Given the description of an element on the screen output the (x, y) to click on. 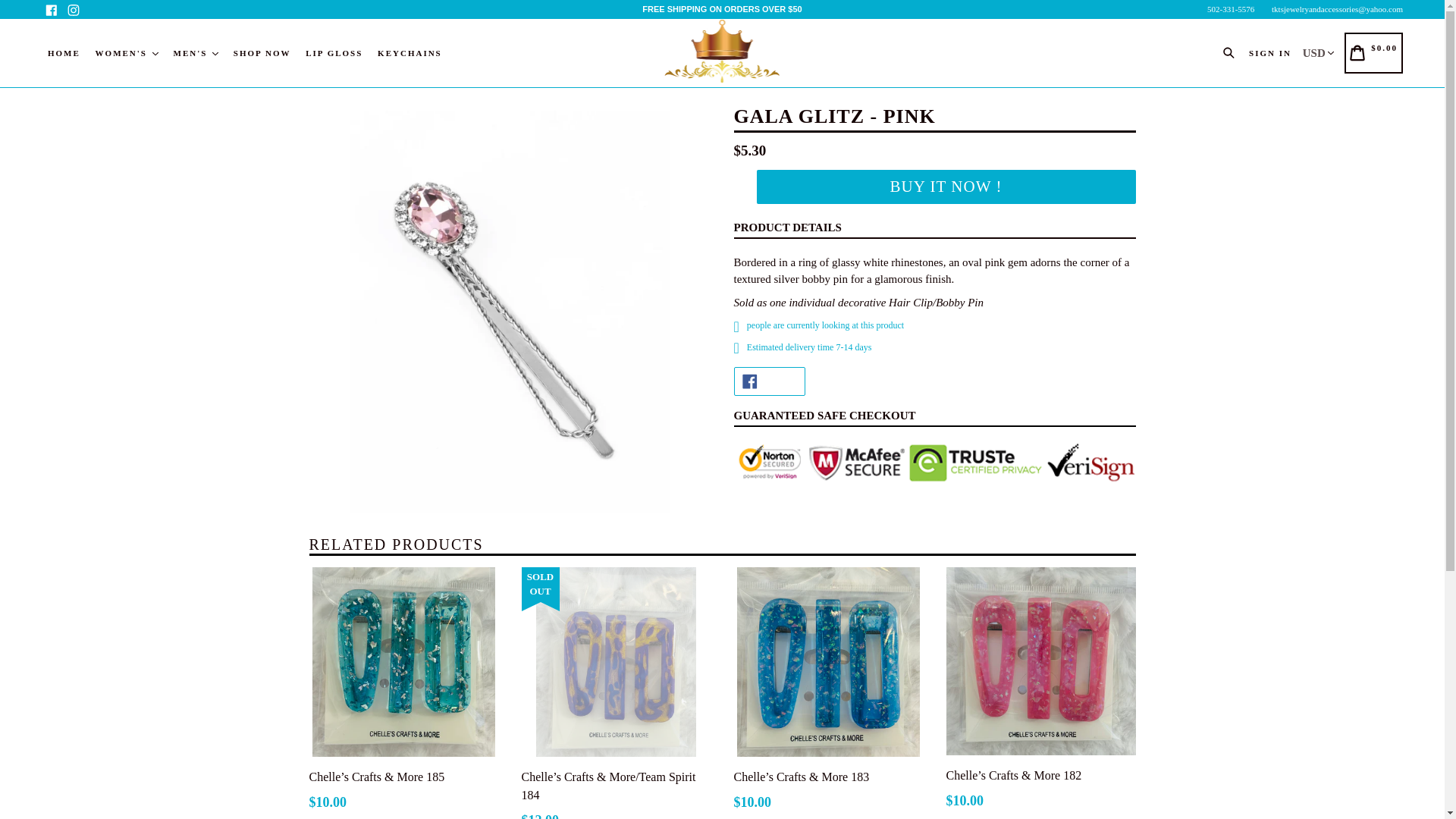
Facebook (51, 9)
Share on Facebook (769, 380)
LIP GLOSS (333, 53)
Instagram (73, 9)
502-331-5576 (1230, 8)
SHOP NOW (262, 53)
